Given the description of an element on the screen output the (x, y) to click on. 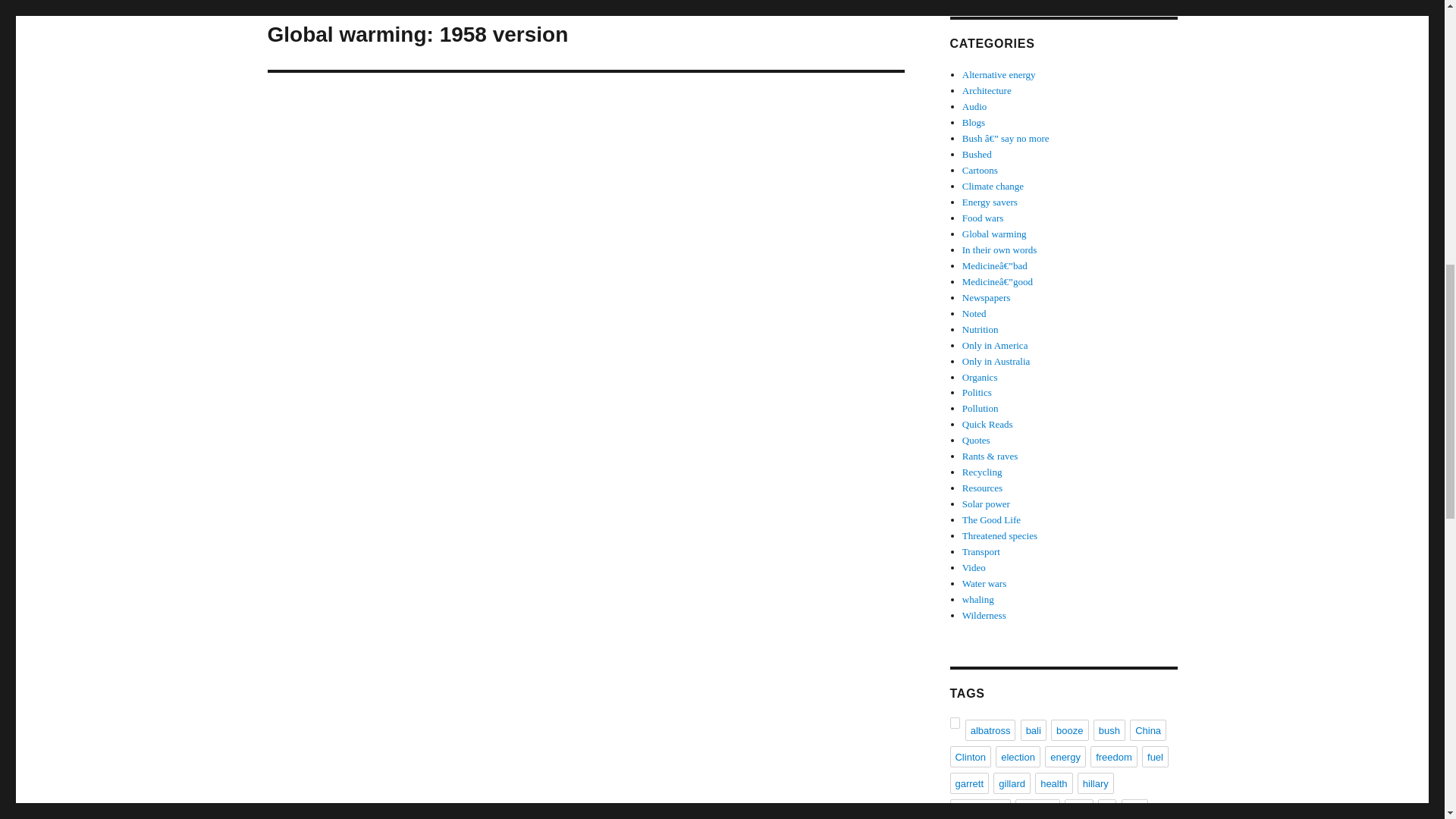
Politics (585, 34)
Climate change (976, 392)
Architecture (992, 185)
Organics (986, 90)
Energy savers (979, 377)
In their own words (989, 202)
Alternative energy (999, 249)
Only in Australia (998, 74)
Cartoons (996, 360)
Quick Reads (979, 170)
Blogs (987, 423)
Noted (973, 122)
Pollution (974, 313)
Food wars (980, 408)
